Given the description of an element on the screen output the (x, y) to click on. 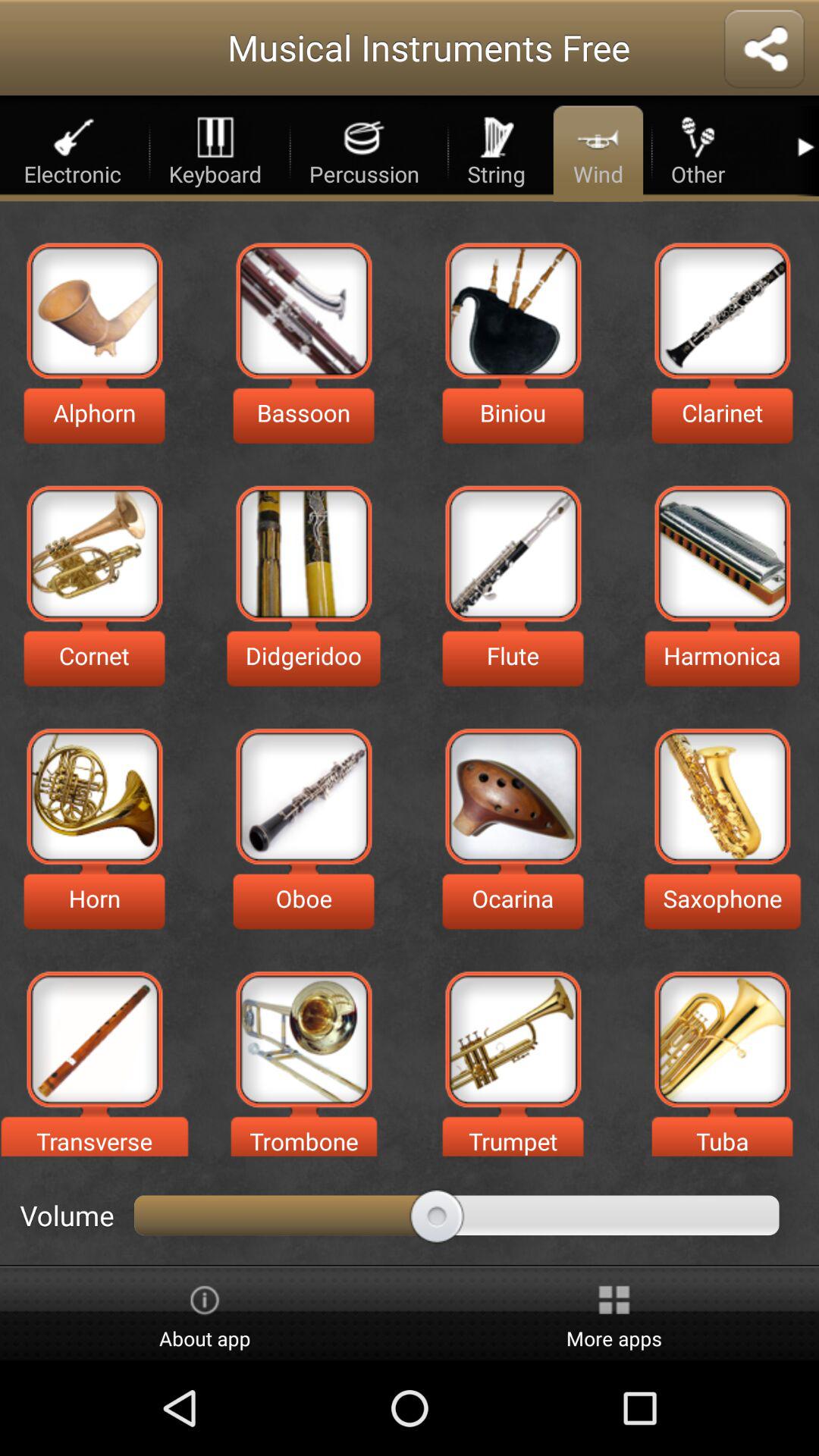
choose your choice (513, 310)
